Given the description of an element on the screen output the (x, y) to click on. 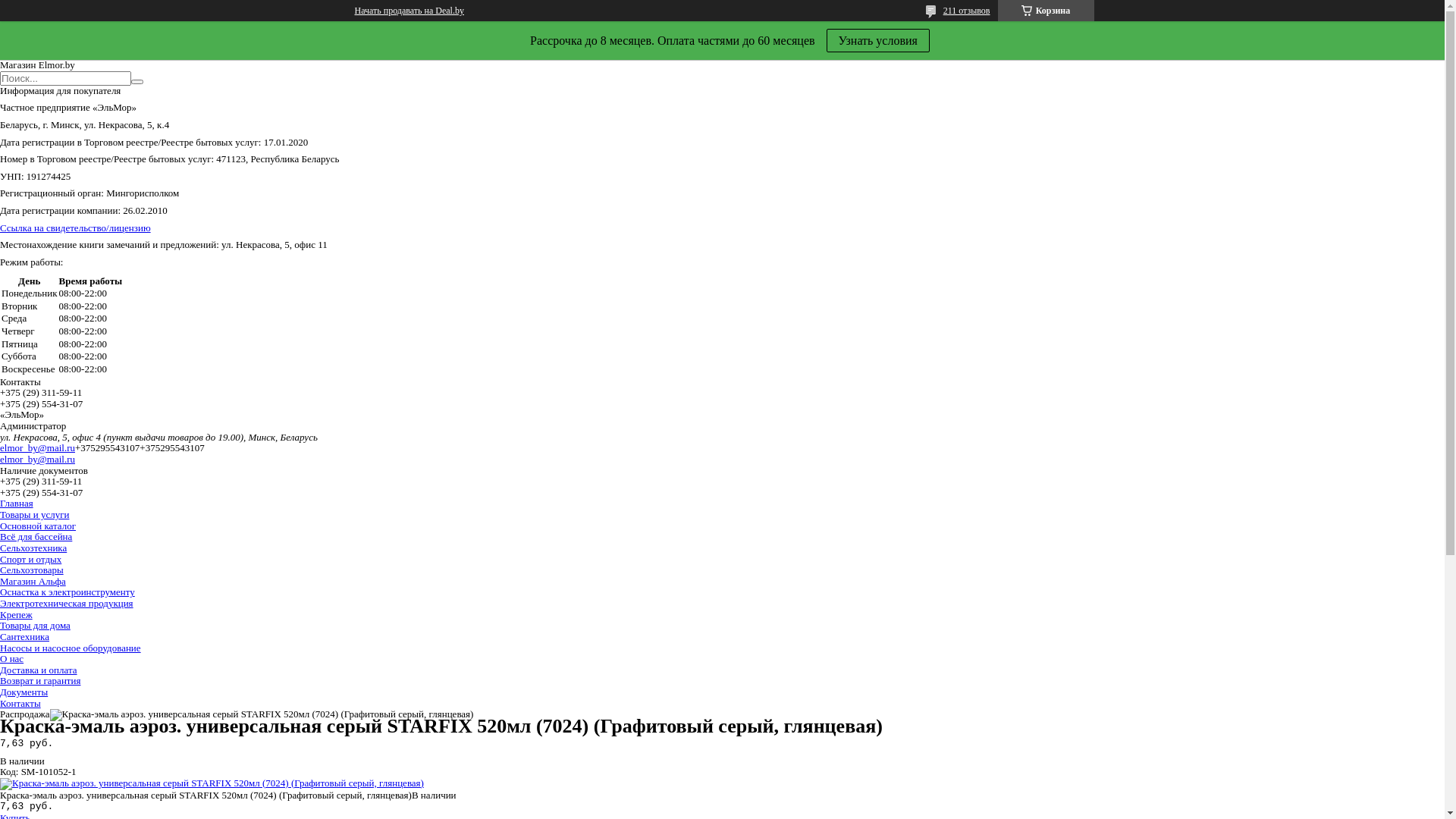
elmor_by@mail.ru Element type: text (37, 458)
elmor_by@mail.ru Element type: text (37, 447)
